Given the description of an element on the screen output the (x, y) to click on. 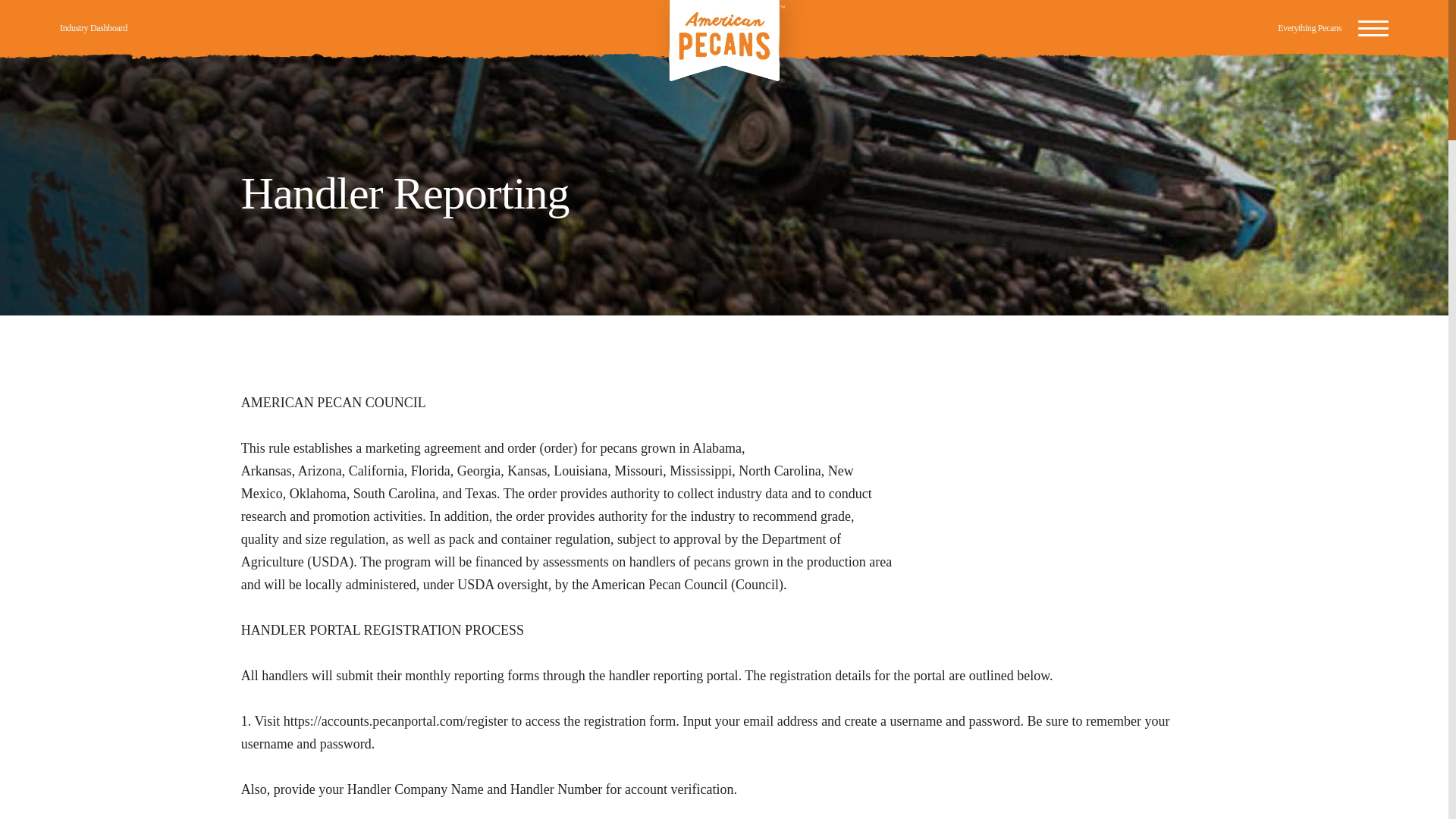
Skip to content (40, 8)
Everything Pecans (1309, 27)
Industry Dashboard (93, 27)
